Given the description of an element on the screen output the (x, y) to click on. 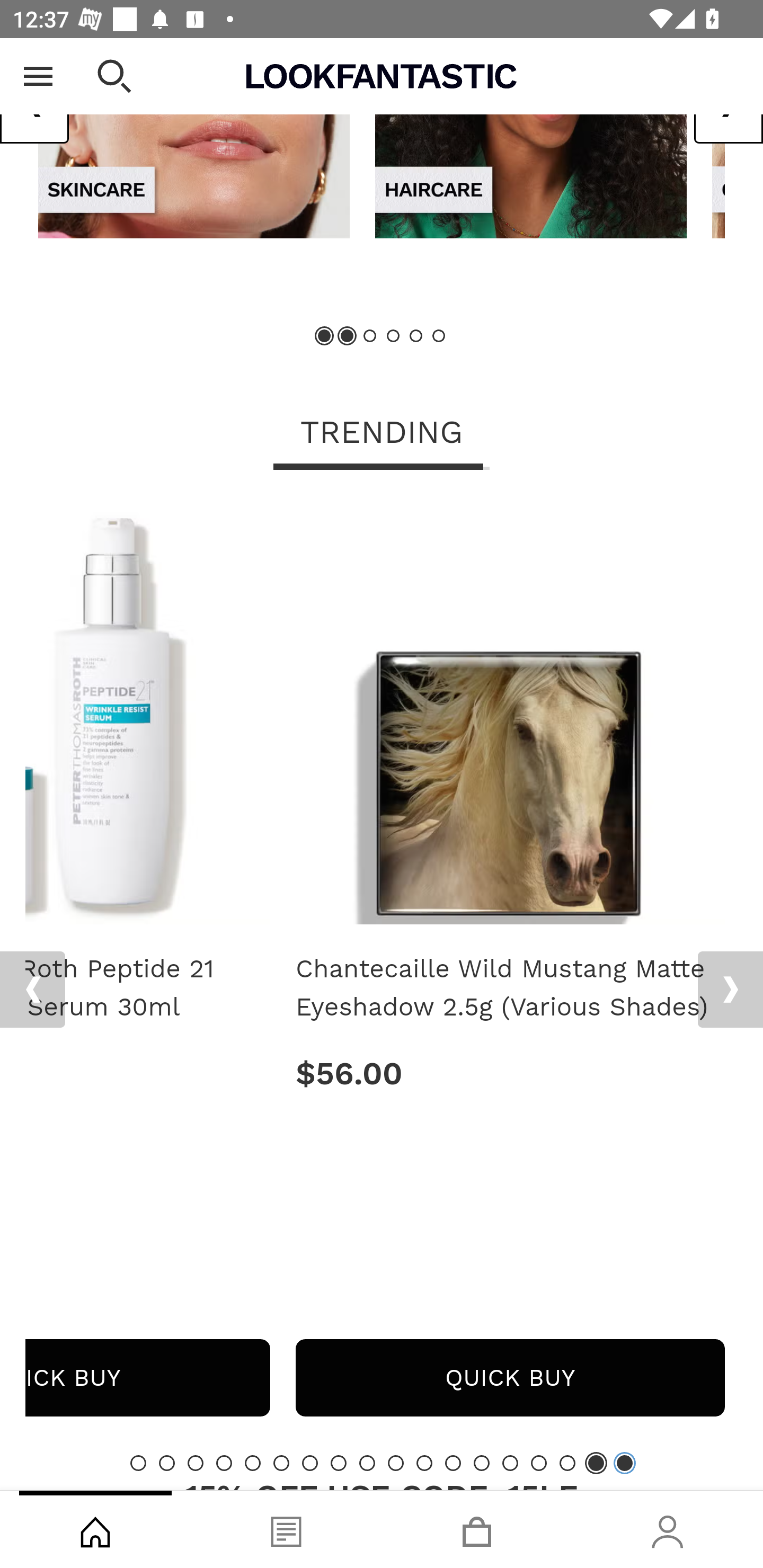
Showing Slide 1 (Current Item) (324, 336)
Showing Slide 2 (Current Item) (347, 336)
Slide 3 (369, 336)
Slide 4 (393, 336)
Slide 5 (415, 336)
Slide 6 (437, 336)
TRENDING (381, 433)
Previous (32, 989)
Next (730, 989)
Price: $56.00 (510, 1073)
Slide 1 (138, 1462)
Slide 2 (166, 1462)
Slide 3 (195, 1462)
Slide 4 (223, 1462)
Slide 5 (252, 1462)
Slide 6 (281, 1462)
Slide 7 (310, 1462)
Slide 8 (338, 1462)
Slide 9 (367, 1462)
Slide 10 (395, 1462)
Slide 11 (424, 1462)
Slide 12 (452, 1462)
Slide 13 (481, 1462)
Slide 14 (510, 1462)
Slide 15 (539, 1462)
Slide 16 (567, 1462)
Showing Slide 17 (Current Item) (596, 1462)
Showing Slide 18 (Current Item) (624, 1462)
Shop, tab, 1 of 4 (95, 1529)
Blog, tab, 2 of 4 (285, 1529)
Basket, tab, 3 of 4 (476, 1529)
Account, tab, 4 of 4 (667, 1529)
